Given the description of an element on the screen output the (x, y) to click on. 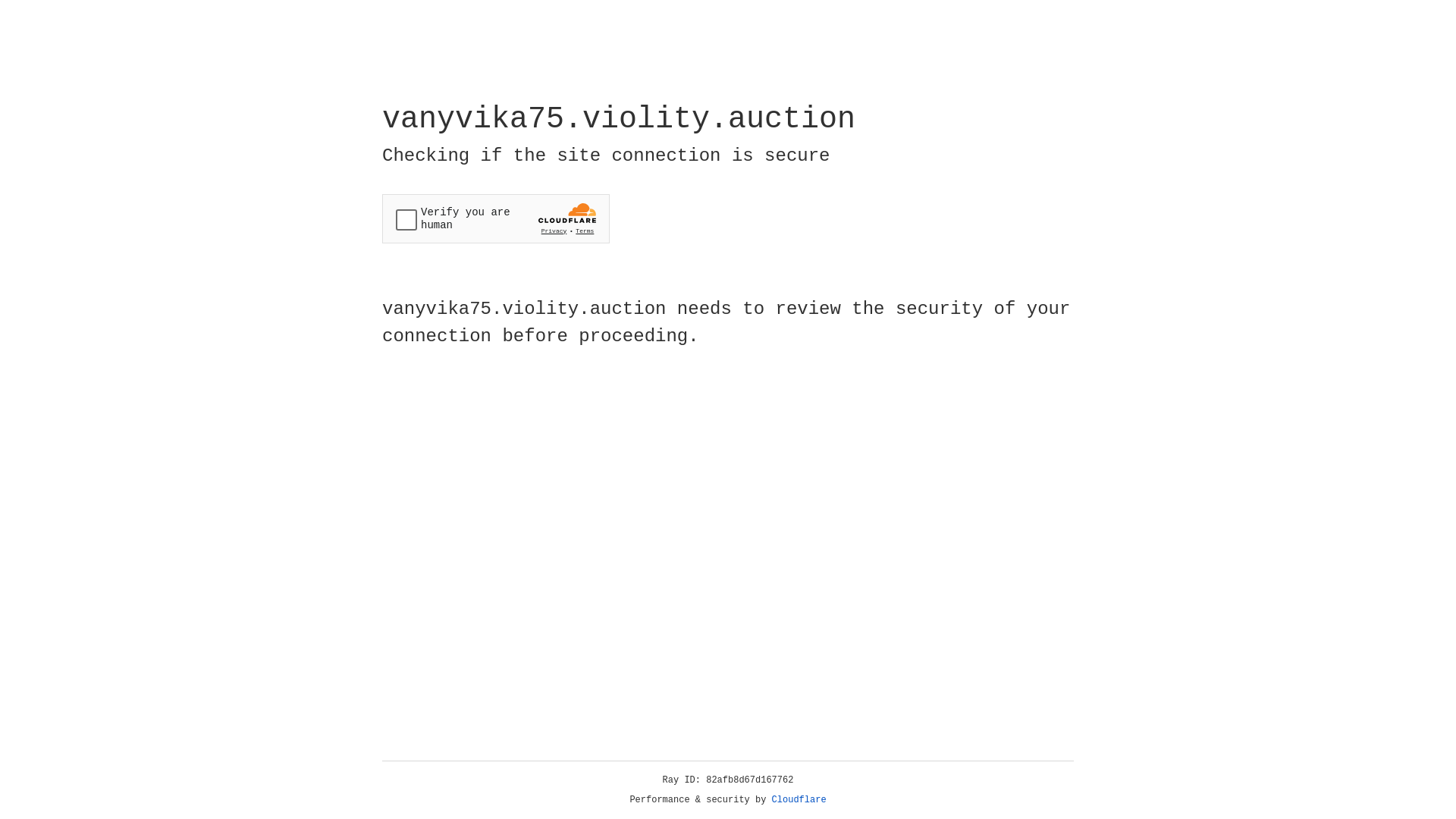
Widget containing a Cloudflare security challenge Element type: hover (495, 218)
Cloudflare Element type: text (798, 799)
